Given the description of an element on the screen output the (x, y) to click on. 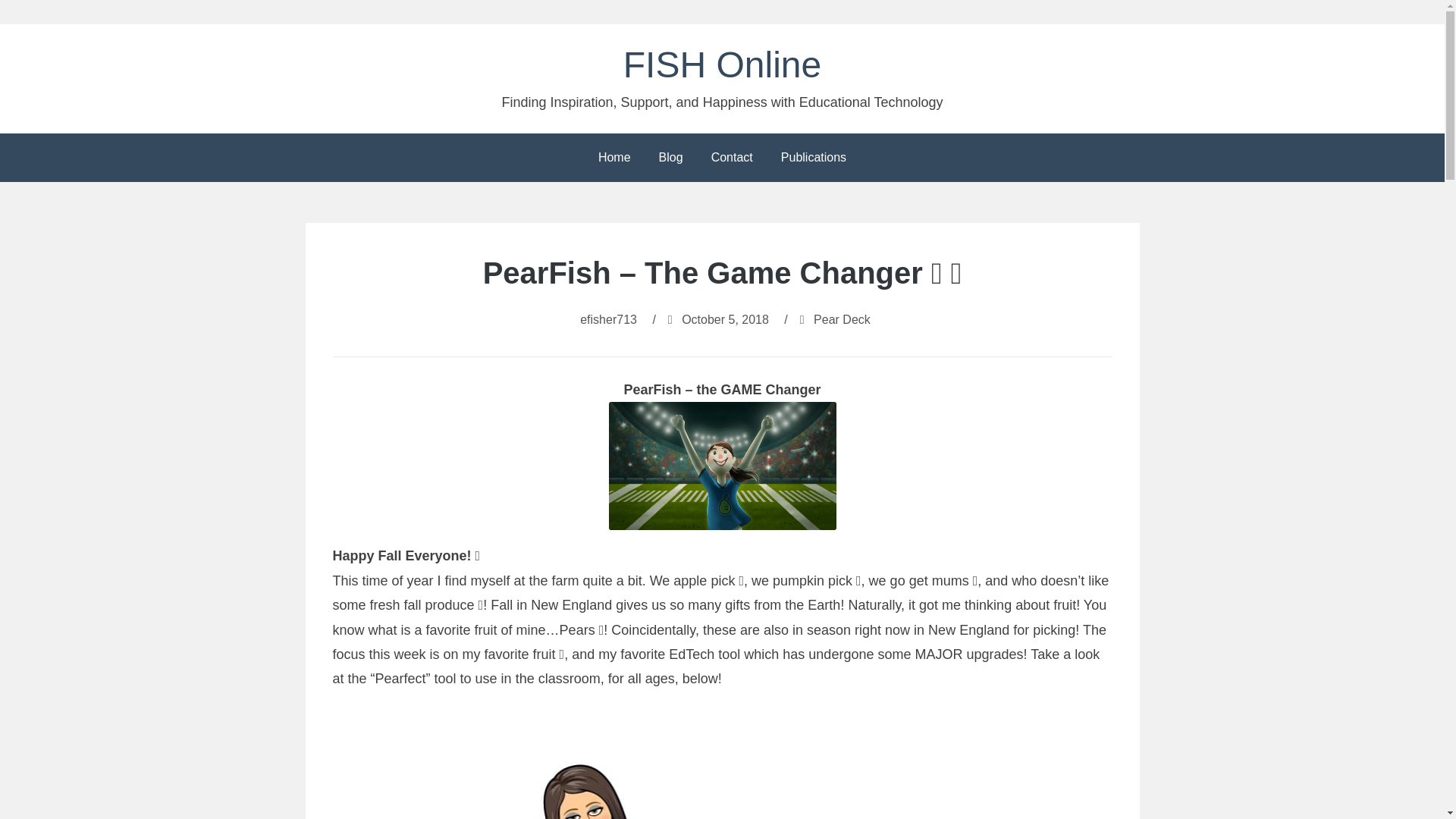
Pear Deck (841, 318)
Publications (813, 157)
Home (614, 157)
efisher713 (608, 318)
Contact (731, 157)
Blog (670, 157)
FISH Online (722, 65)
October 5, 2018 (724, 318)
